Given the description of an element on the screen output the (x, y) to click on. 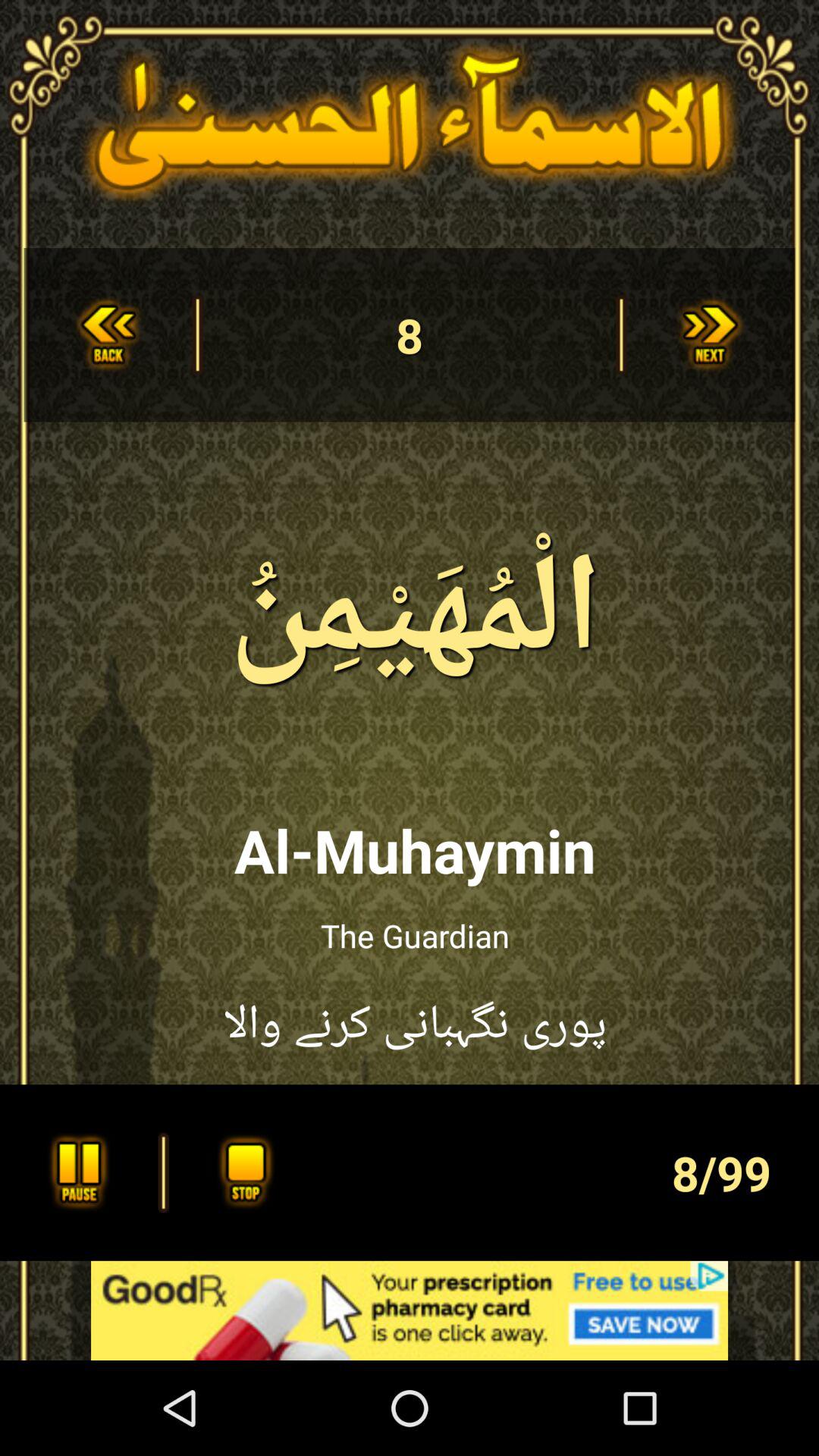
select the stop buttoin (241, 1172)
